Given the description of an element on the screen output the (x, y) to click on. 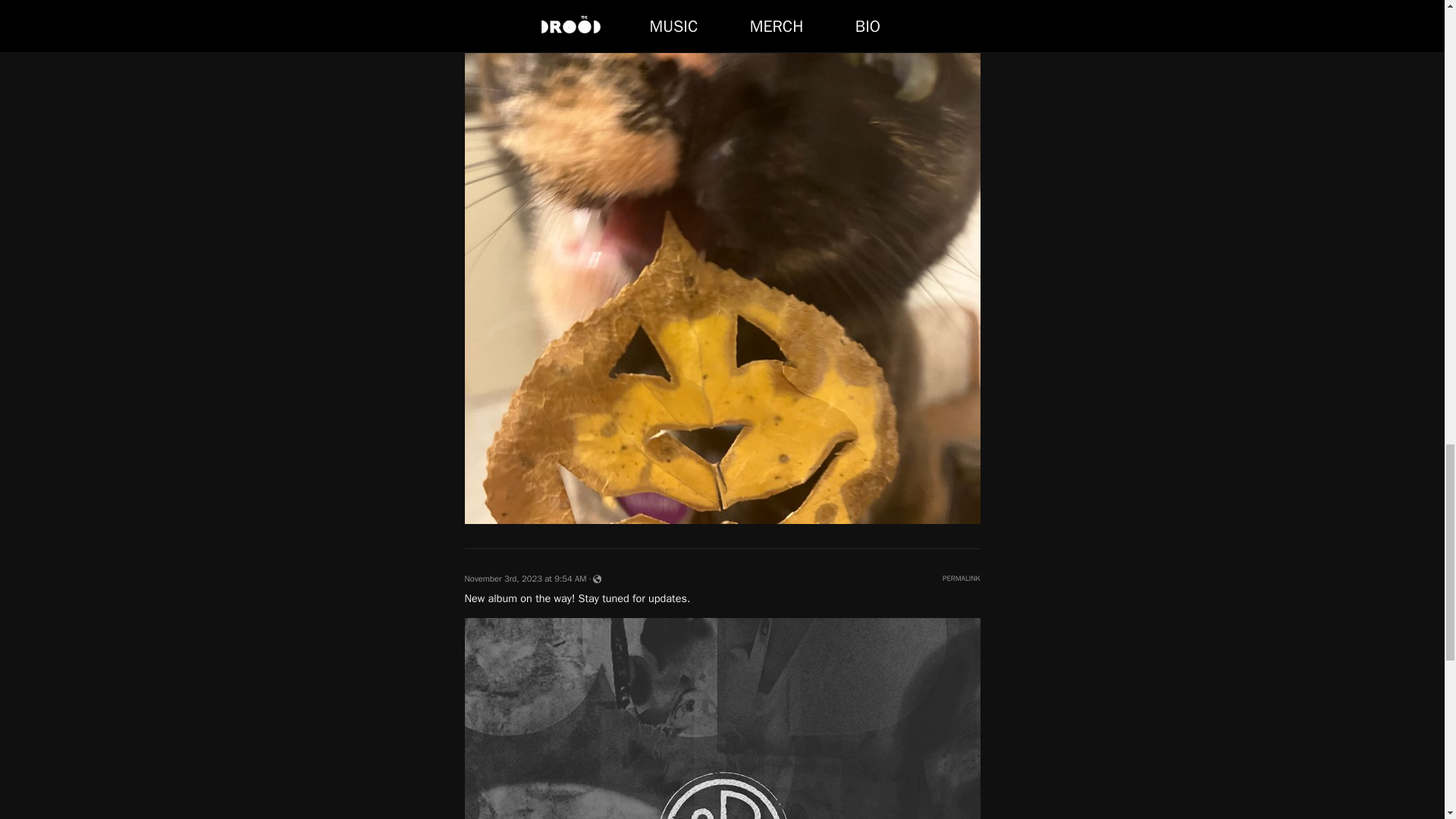
PERMALINK (960, 578)
Shared with Public (596, 578)
